Given the description of an element on the screen output the (x, y) to click on. 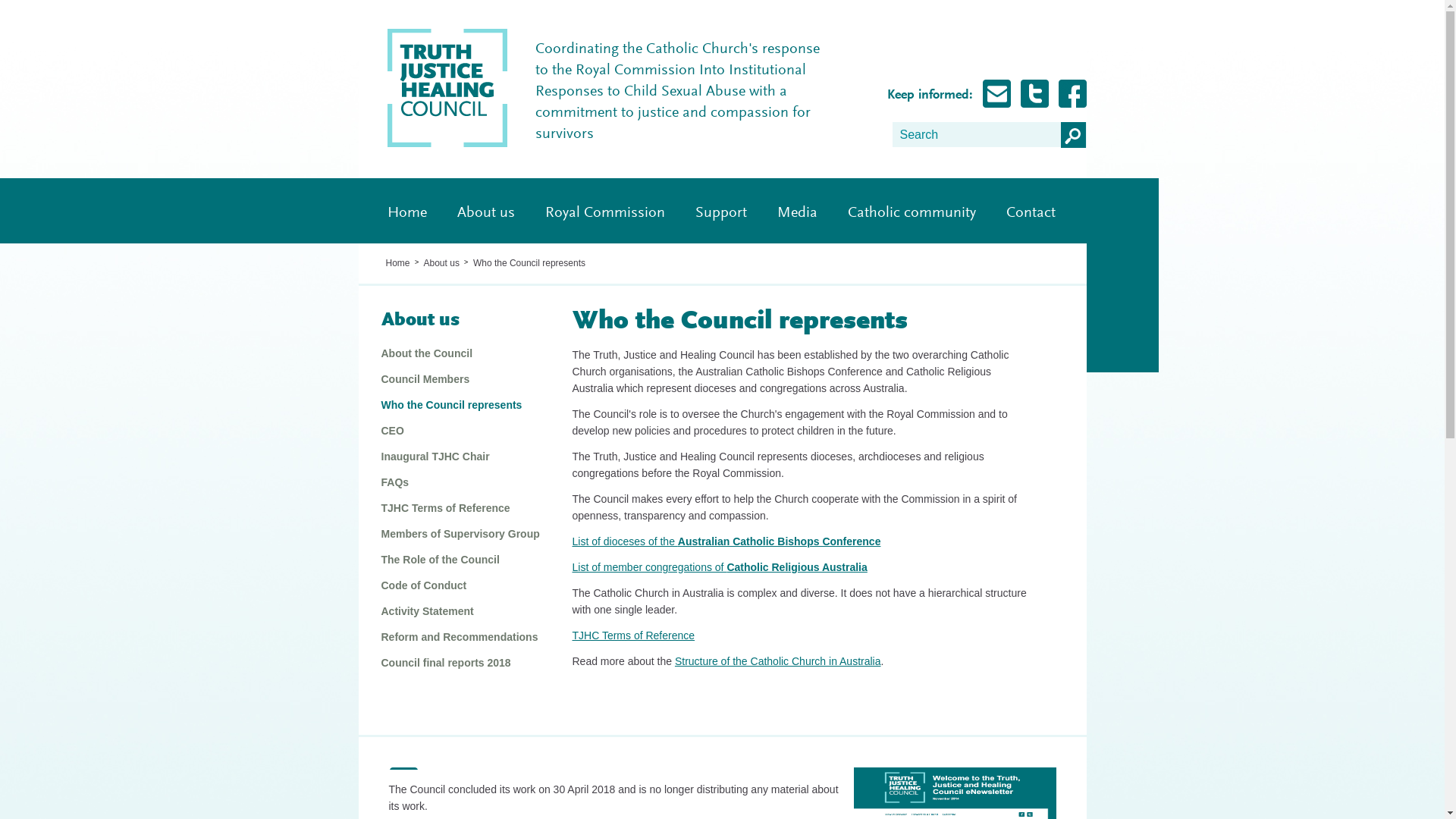
GO Element type: text (1072, 134)
Catholic community Element type: text (911, 210)
Reform and Recommendations Element type: text (460, 637)
Royal Commission Element type: text (604, 210)
Follow Truth, Justice and healing on Twitter Element type: text (1034, 93)
Council Members Element type: text (460, 379)
About us Element type: text (441, 262)
TJHC Terms of Reference Element type: text (460, 508)
Media Element type: text (796, 210)
Members of Supervisory Group Element type: text (460, 534)
About us Element type: text (460, 321)
TJHC Terms of Reference Element type: text (632, 635)
List of member congregations of Catholic Religious Australia Element type: text (718, 567)
Who the Council represents Element type: text (528, 262)
Council final reports 2018 Element type: text (460, 663)
Code of Conduct Element type: text (460, 585)
Inaugural TJHC Chair Element type: text (460, 456)
CEO Element type: text (460, 431)
Truth, Justice, Healing council Element type: hover (446, 144)
Support Element type: text (720, 210)
Home Element type: text (397, 262)
Subscribe for Updates Element type: text (996, 93)
FAQs Element type: text (460, 482)
Activity Statement Element type: text (460, 611)
About us Element type: text (485, 210)
Contact Element type: text (1030, 210)
Structure of the Catholic Church in Australia Element type: text (777, 661)
The Role of the Council Element type: text (460, 560)
Who the Council represents Element type: text (460, 405)
Search Element type: hover (975, 133)
Home Element type: text (406, 210)
Follow Truth, Justice and healing on Facebook Element type: text (1072, 93)
About the Council Element type: text (460, 353)
